Given the description of an element on the screen output the (x, y) to click on. 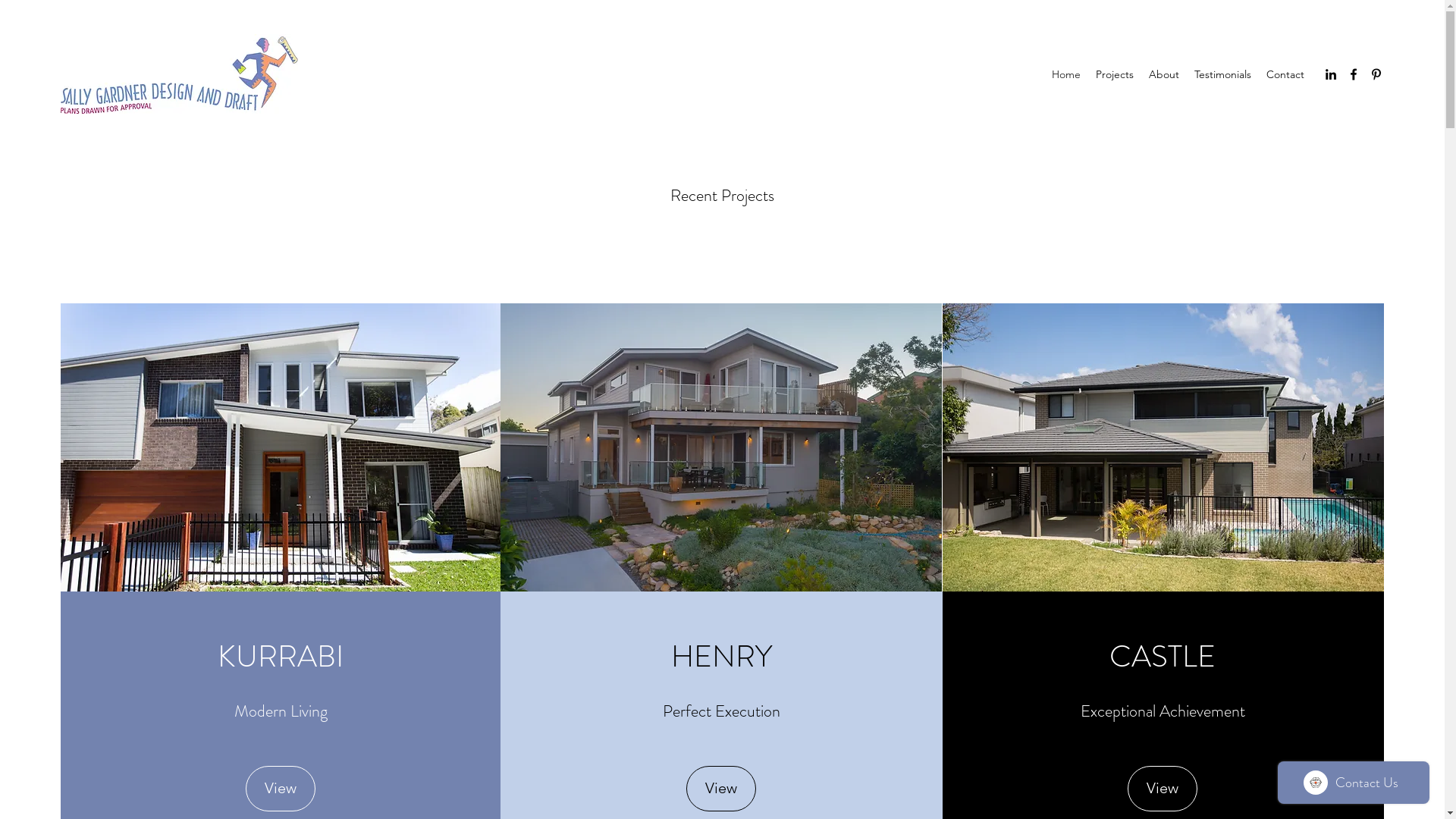
About Element type: text (1163, 73)
Testimonials Element type: text (1222, 73)
Contact Element type: text (1284, 73)
View Element type: text (1162, 788)
View Element type: text (721, 788)
Projects Element type: text (1114, 73)
View Element type: text (280, 788)
Home Element type: text (1066, 73)
